Given the description of an element on the screen output the (x, y) to click on. 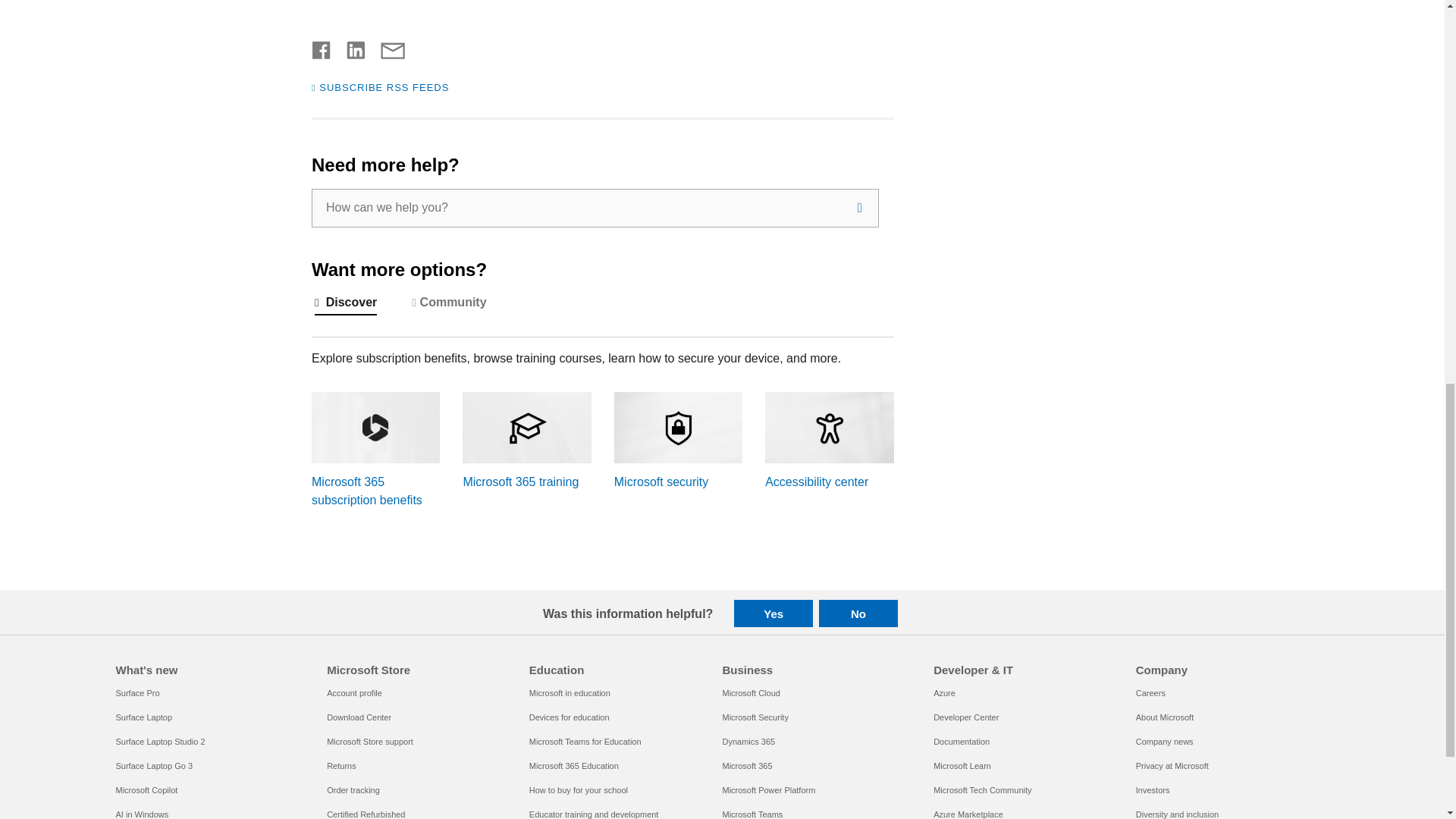
Share by email (385, 47)
Search (860, 208)
Share on Facebook (322, 47)
Share on LinkedIn (349, 47)
